Given the description of an element on the screen output the (x, y) to click on. 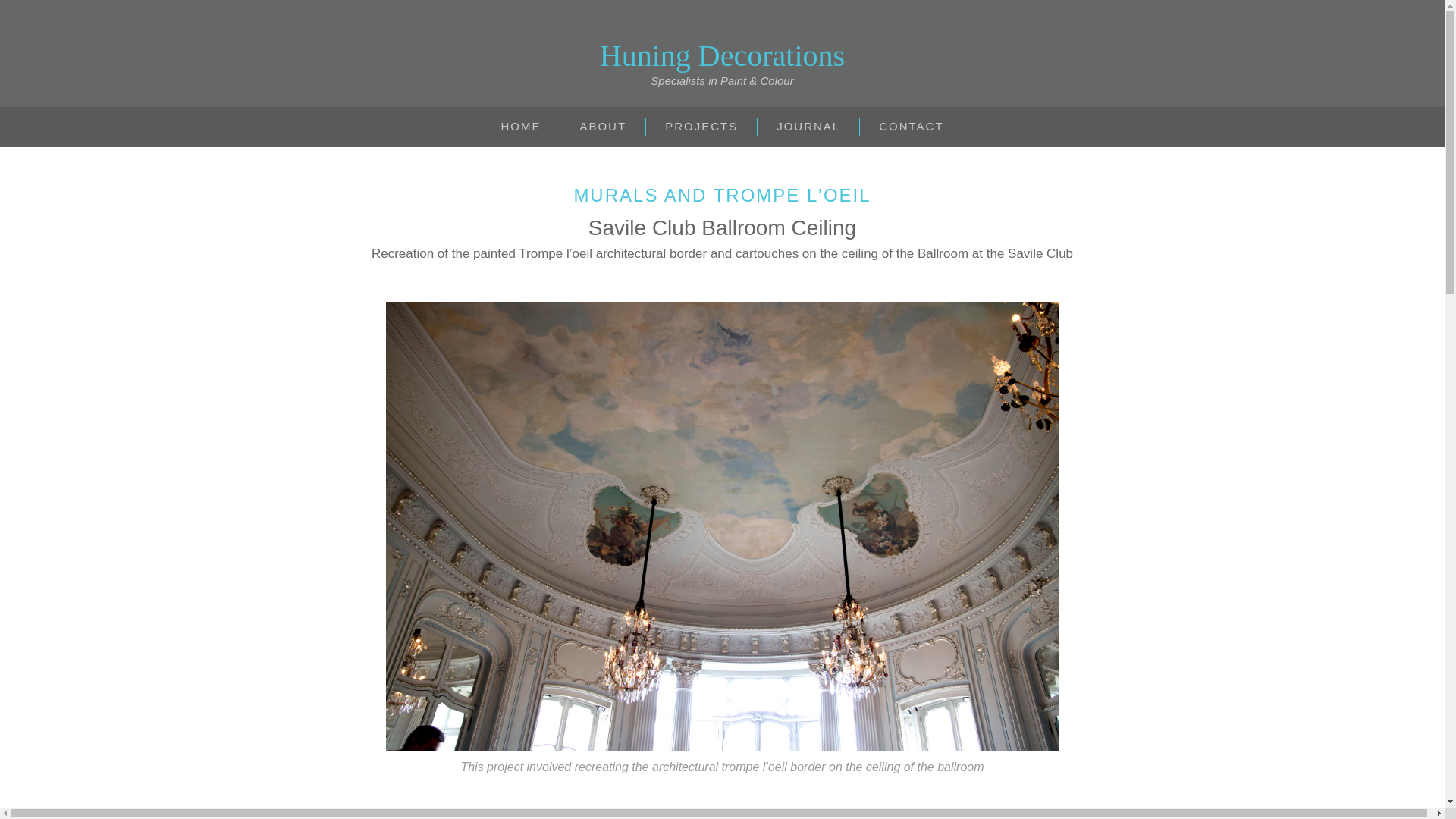
CONTACT (911, 126)
ABOUT (602, 126)
PROJECTS (701, 126)
HOME (520, 126)
JOURNAL (808, 126)
